Given the description of an element on the screen output the (x, y) to click on. 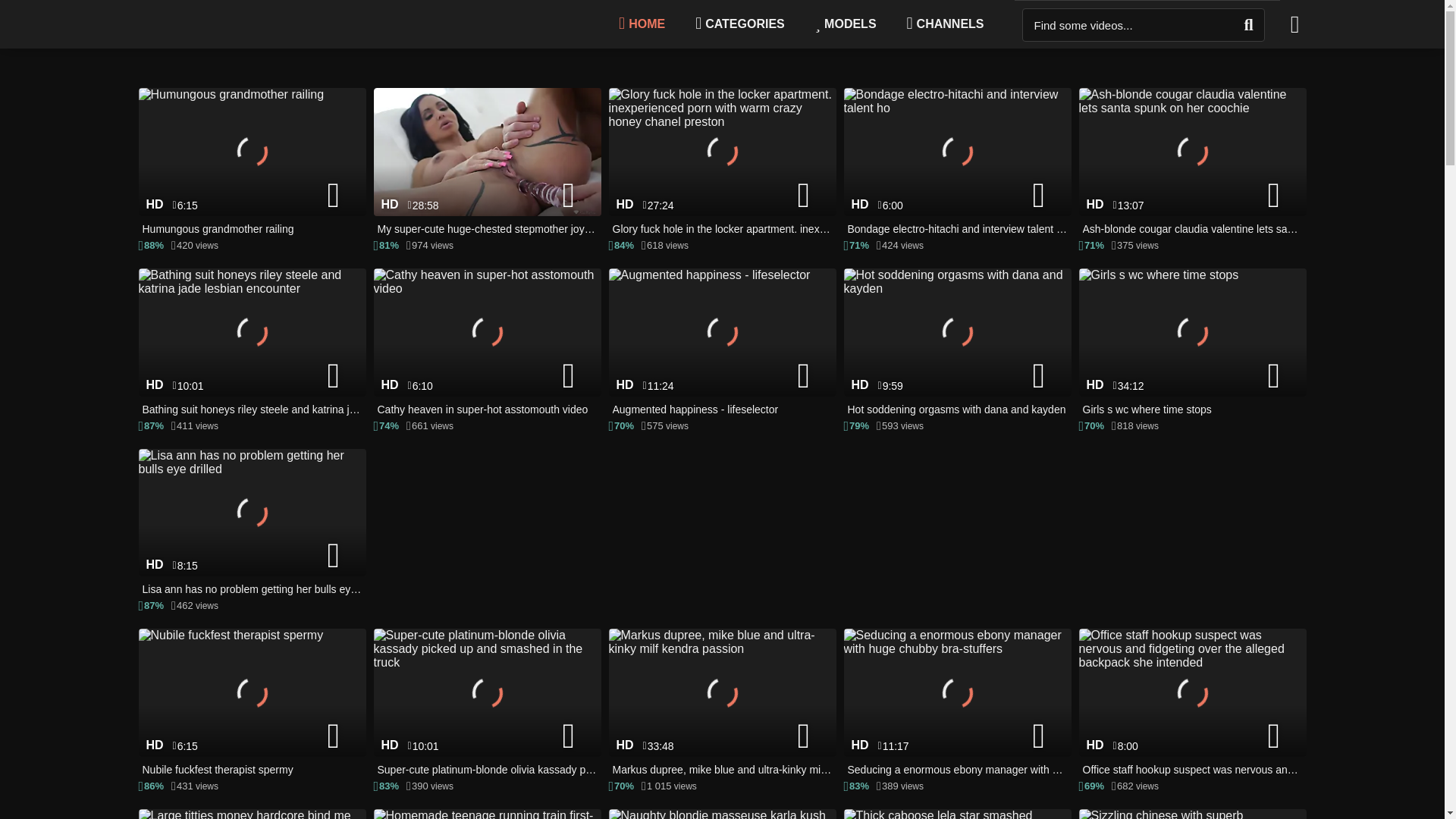
MODELS (845, 23)
HOME (641, 23)
CHANNELS (945, 23)
Nubile fuckfest therapist spermy (251, 703)
